Given the description of an element on the screen output the (x, y) to click on. 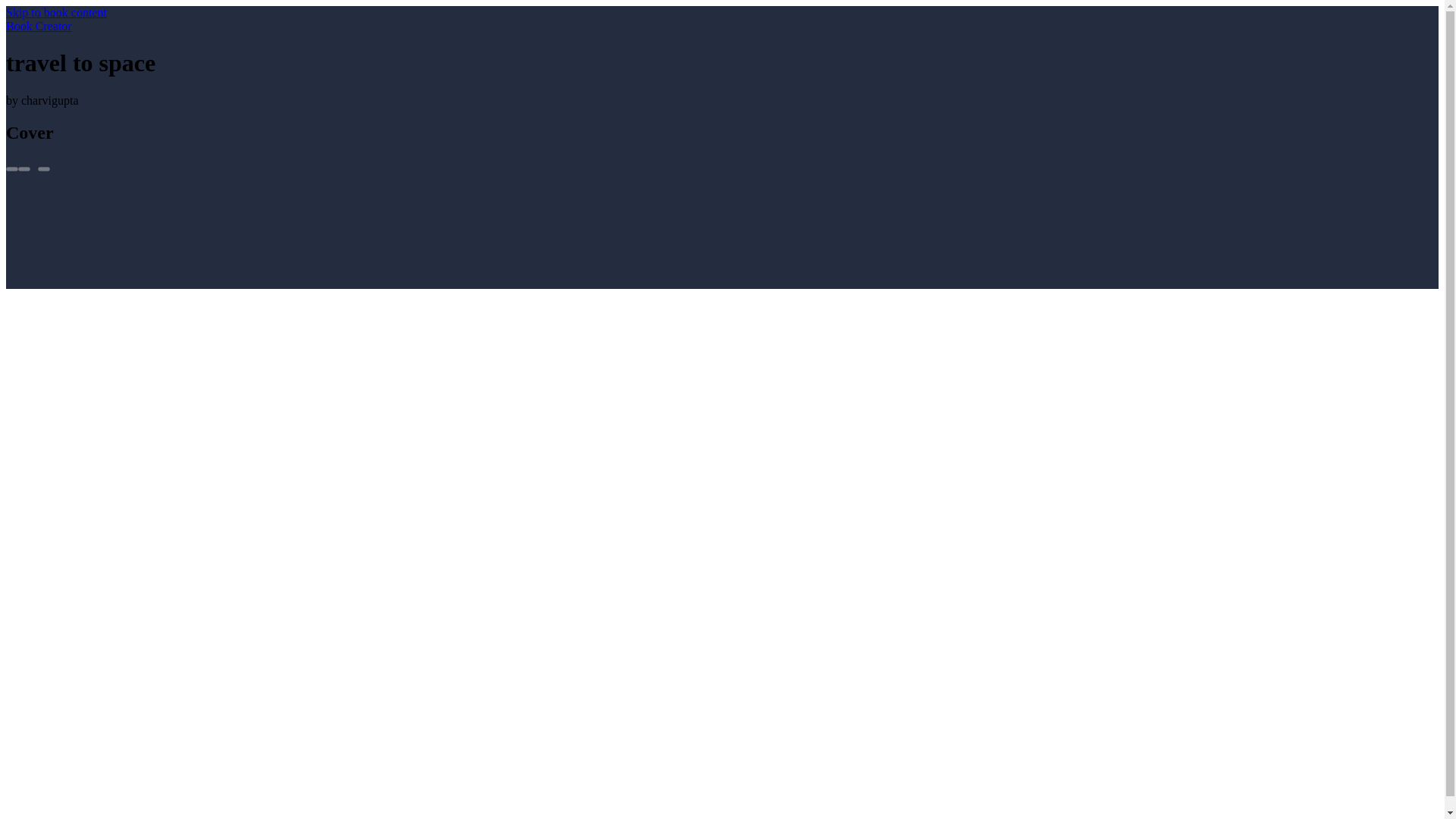
Skip to book content (55, 11)
Pages (11, 169)
Skip to book content (55, 11)
Menu (43, 169)
Go to Book Creator website (38, 25)
Book Creator (38, 25)
Settings (23, 169)
